Given the description of an element on the screen output the (x, y) to click on. 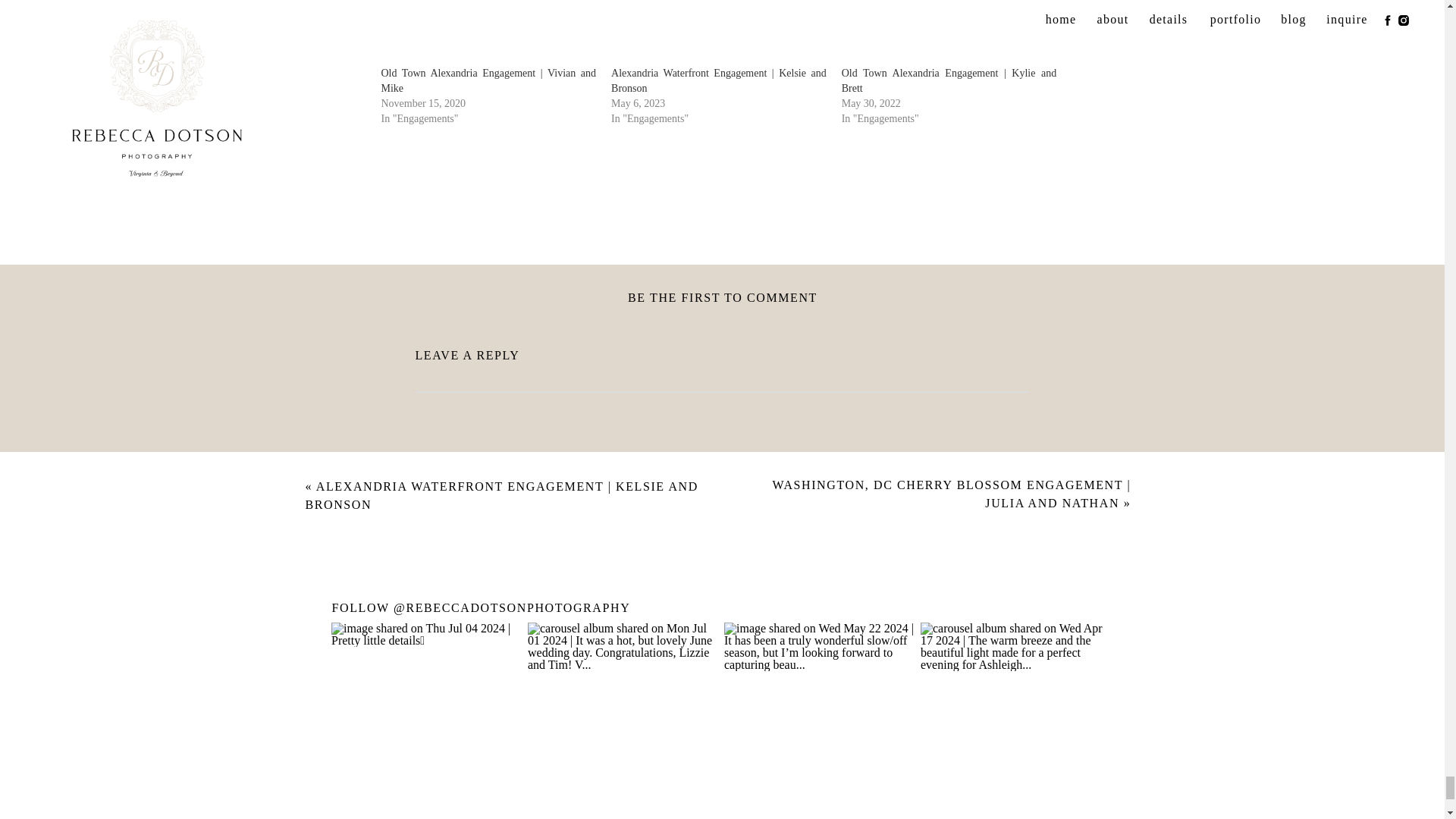
BE THE FIRST TO COMMENT (721, 297)
